Given the description of an element on the screen output the (x, y) to click on. 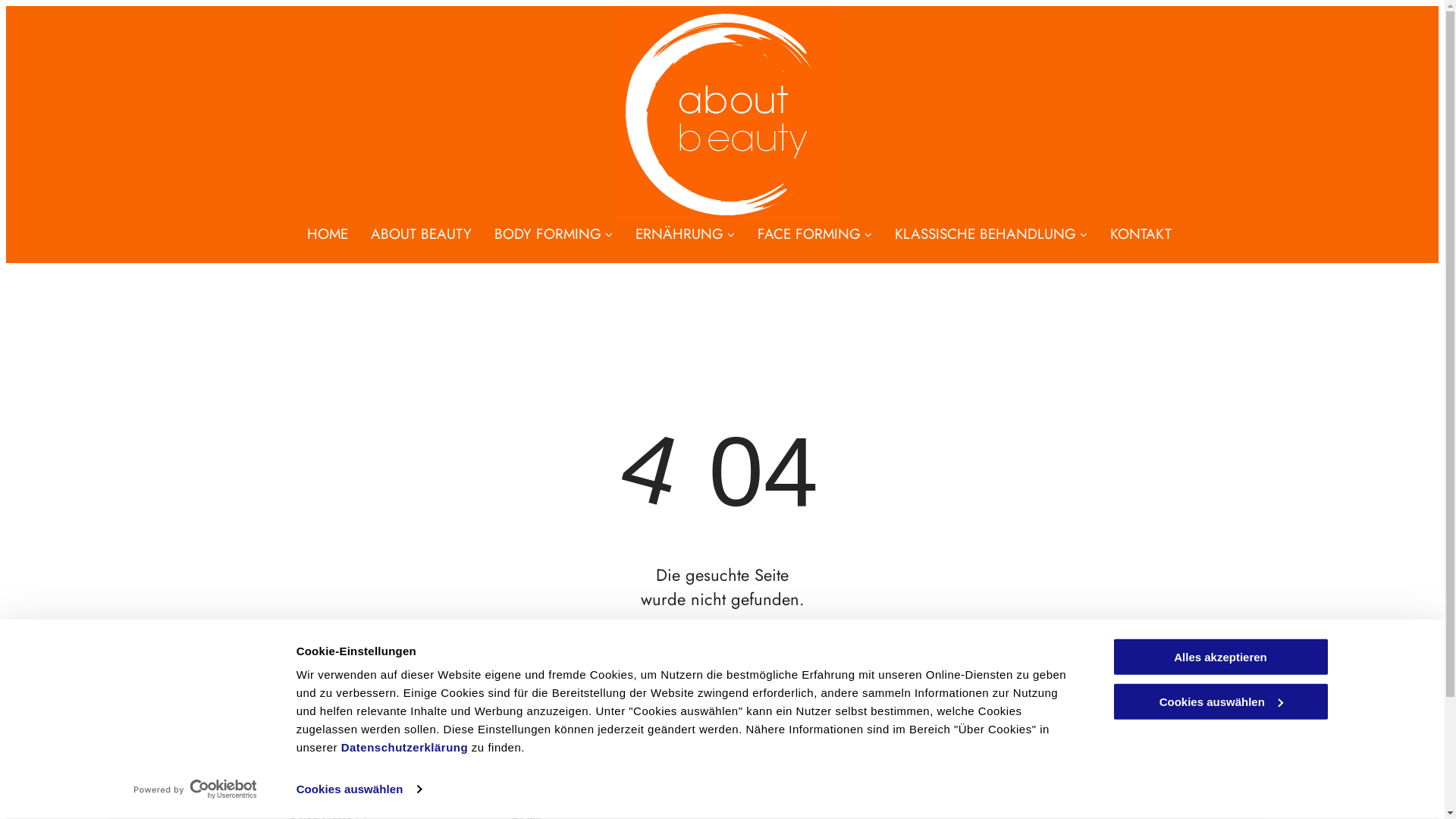
KLASSISCHE BEHANDLUNG Element type: text (990, 234)
Impressum Element type: text (1129, 797)
076 347 24 40 Element type: text (548, 797)
Alles akzeptieren Element type: text (1219, 656)
Zur Startseite Element type: text (721, 659)
KONTAKT Element type: text (1140, 234)
BODY FORMING Element type: text (553, 234)
ABOUT BEAUTY Element type: text (420, 234)
FACE FORMING Element type: text (814, 234)
HOME Element type: text (327, 234)
